Given the description of an element on the screen output the (x, y) to click on. 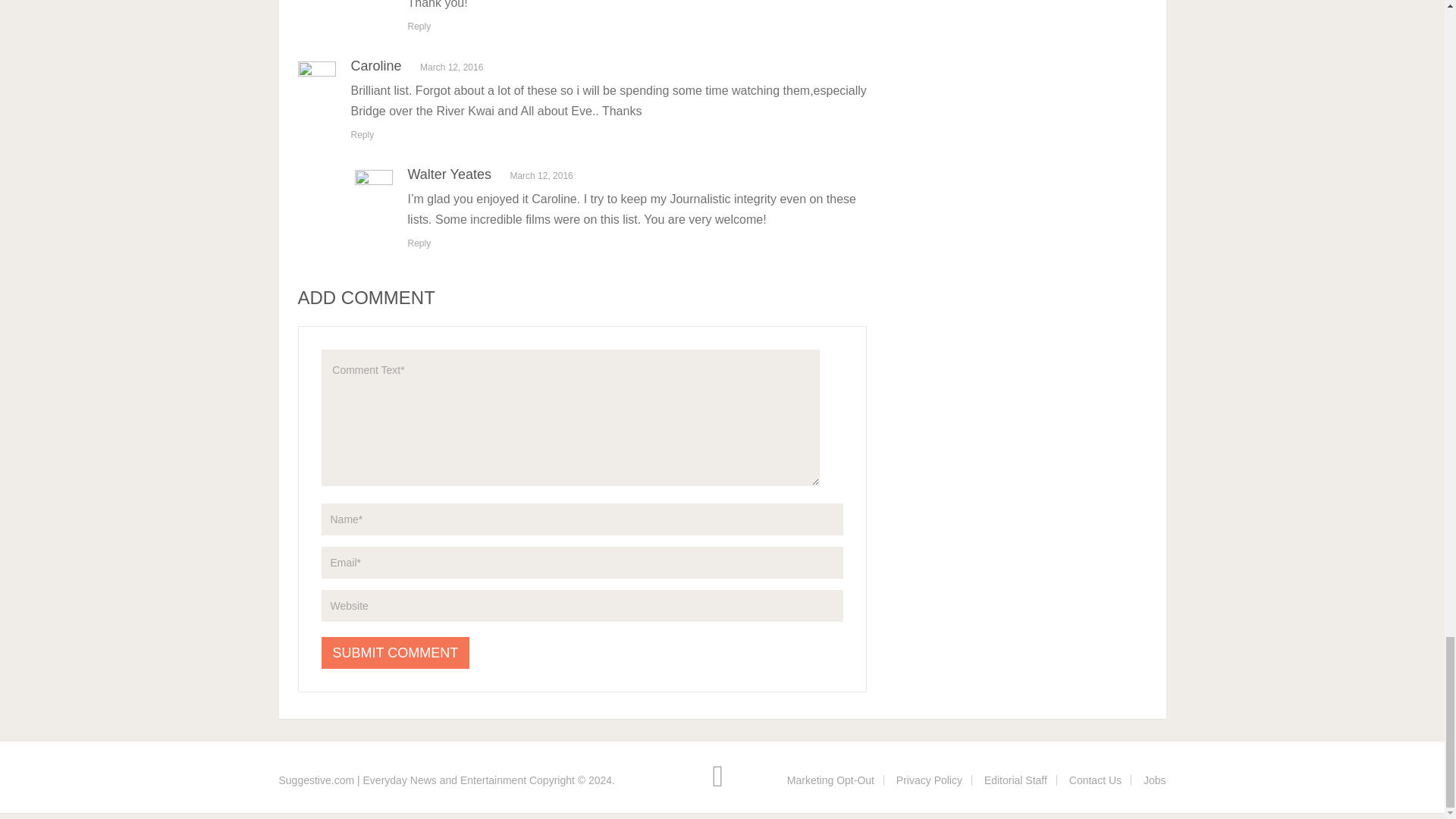
Submit Comment (395, 653)
